Given the description of an element on the screen output the (x, y) to click on. 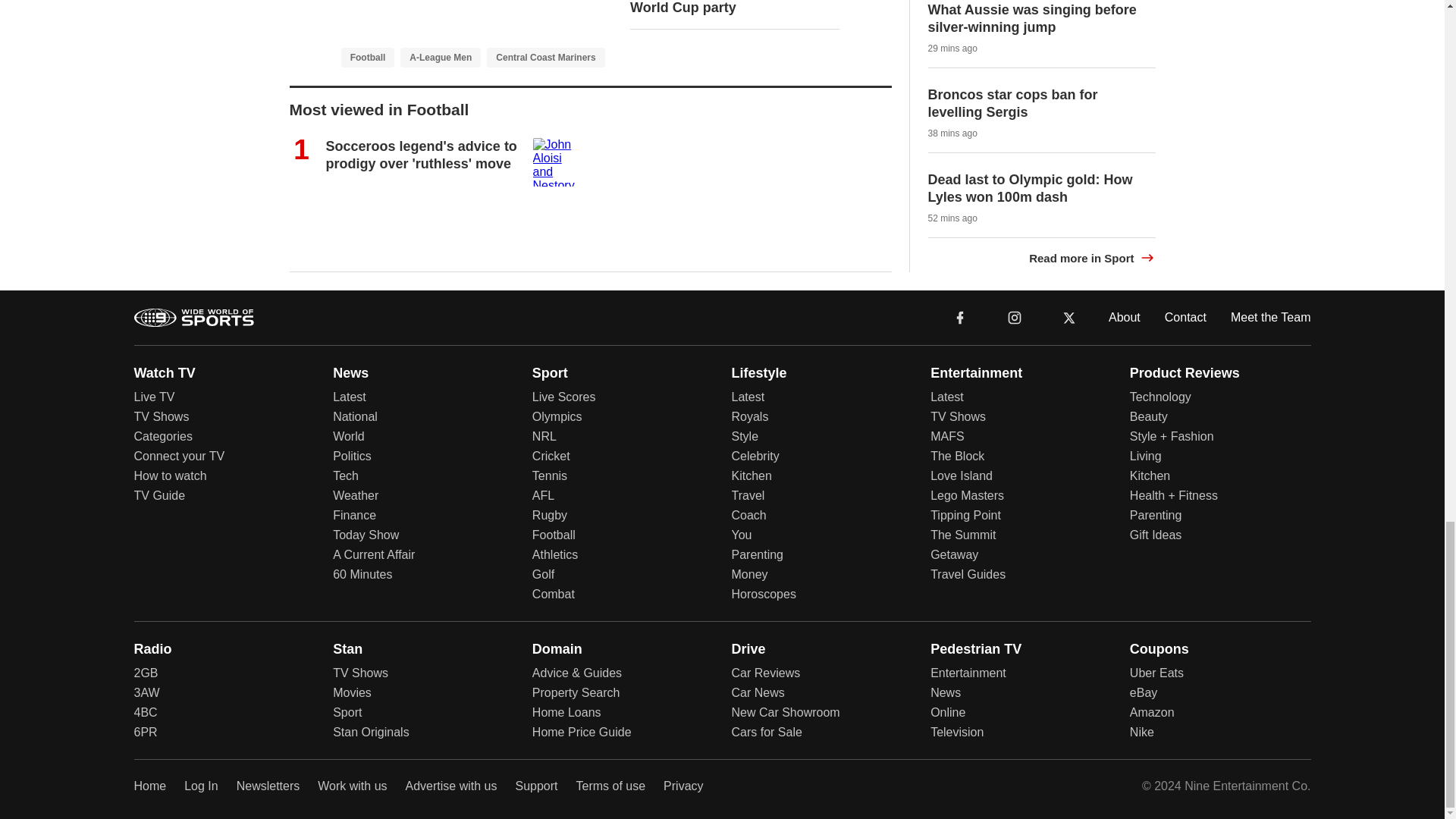
Socceroos legend's advice to prodigy over 'ruthless' move (421, 154)
x (1069, 317)
A-League Men (440, 56)
instagram (1014, 317)
Football (367, 56)
x (1069, 316)
Central Coast Mariners (545, 56)
Amazing images capture size of World Cup party (733, 7)
instagram (1013, 316)
facebook (960, 317)
facebook (959, 316)
